Given the description of an element on the screen output the (x, y) to click on. 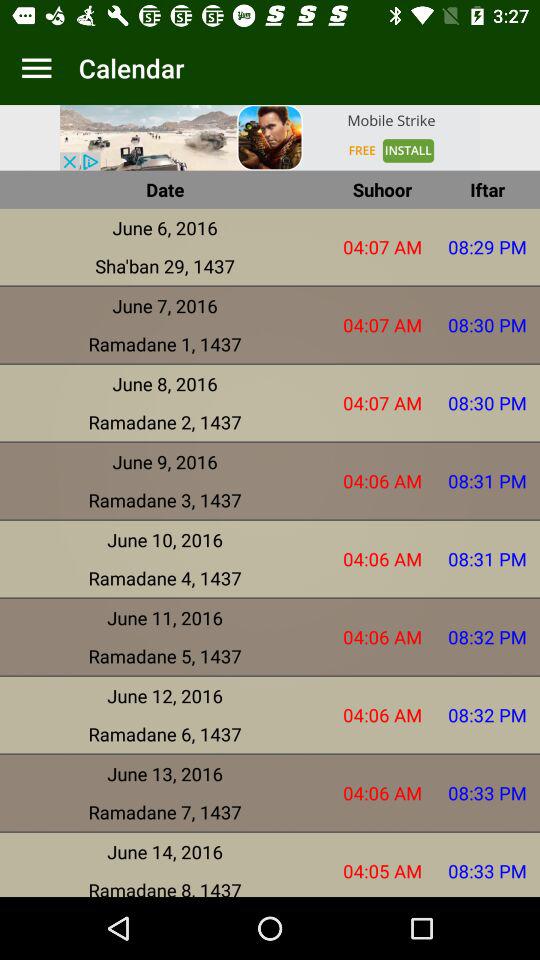
for adverisment (270, 137)
